Given the description of an element on the screen output the (x, y) to click on. 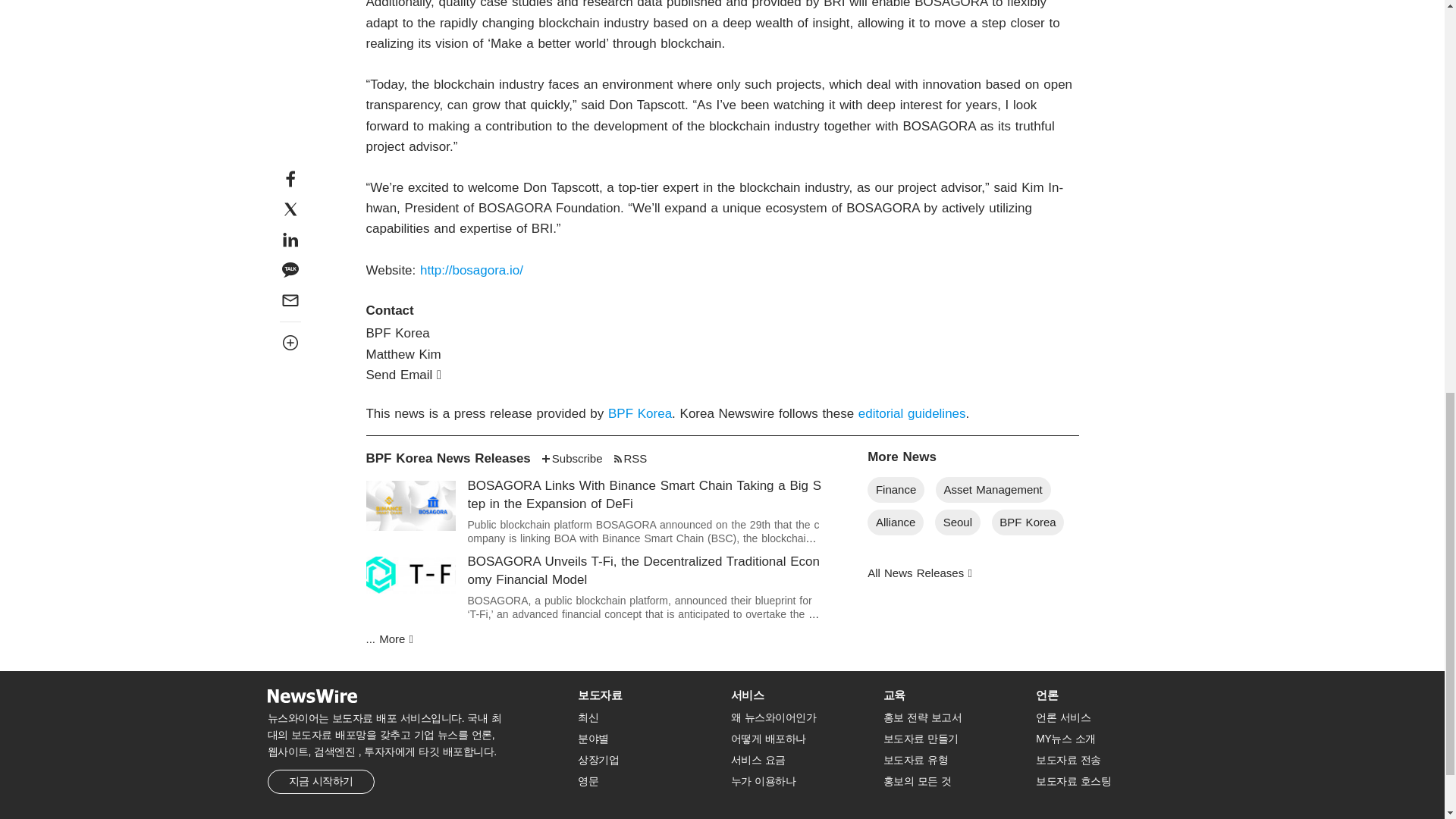
T-Fi logo (409, 574)
